Given the description of an element on the screen output the (x, y) to click on. 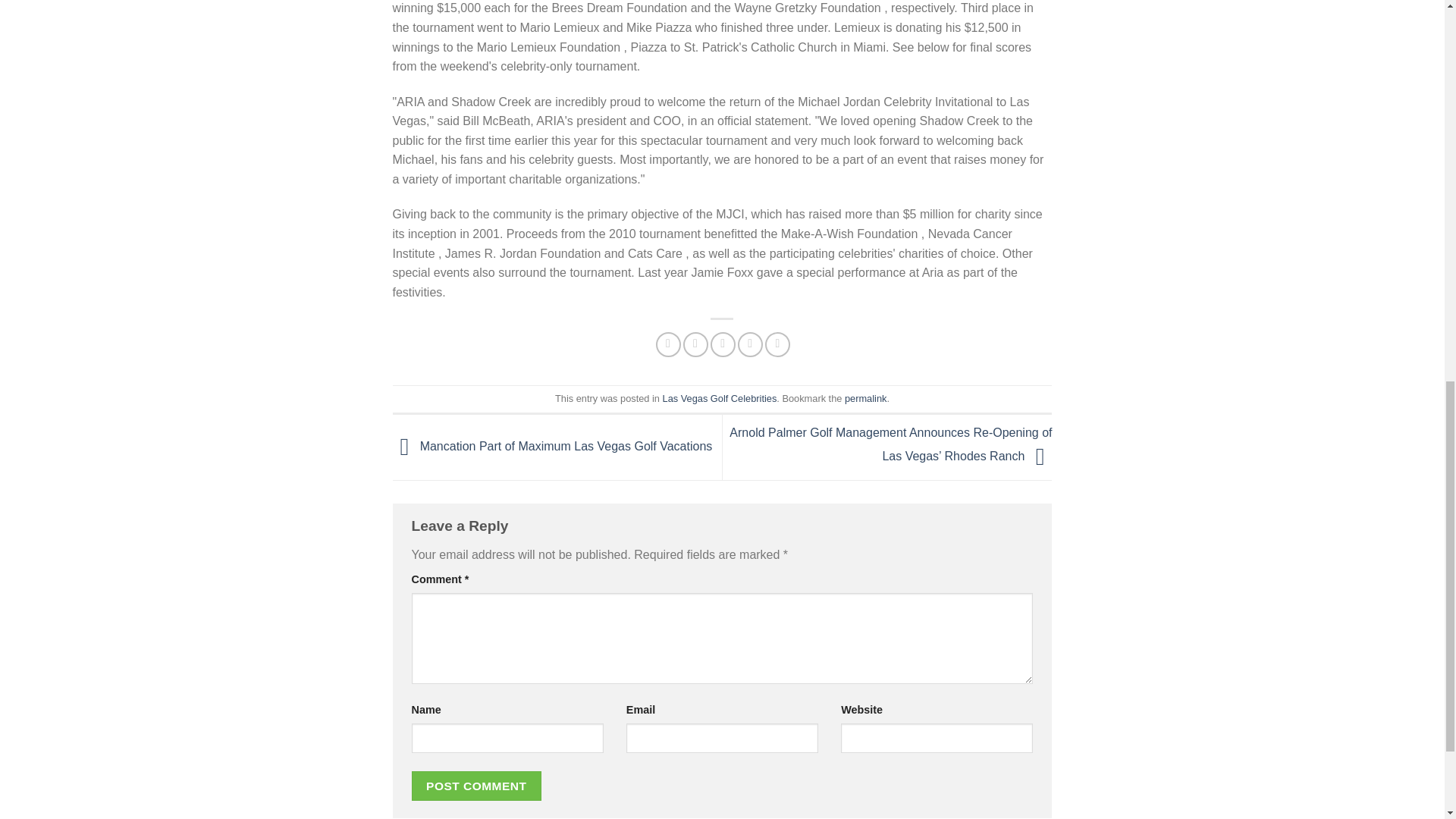
Post Comment (475, 785)
permalink (865, 398)
Post Comment (475, 785)
Las Vegas Golf Celebrities (719, 398)
Mancation Part of Maximum Las Vegas Golf Vacations (553, 445)
